Given the description of an element on the screen output the (x, y) to click on. 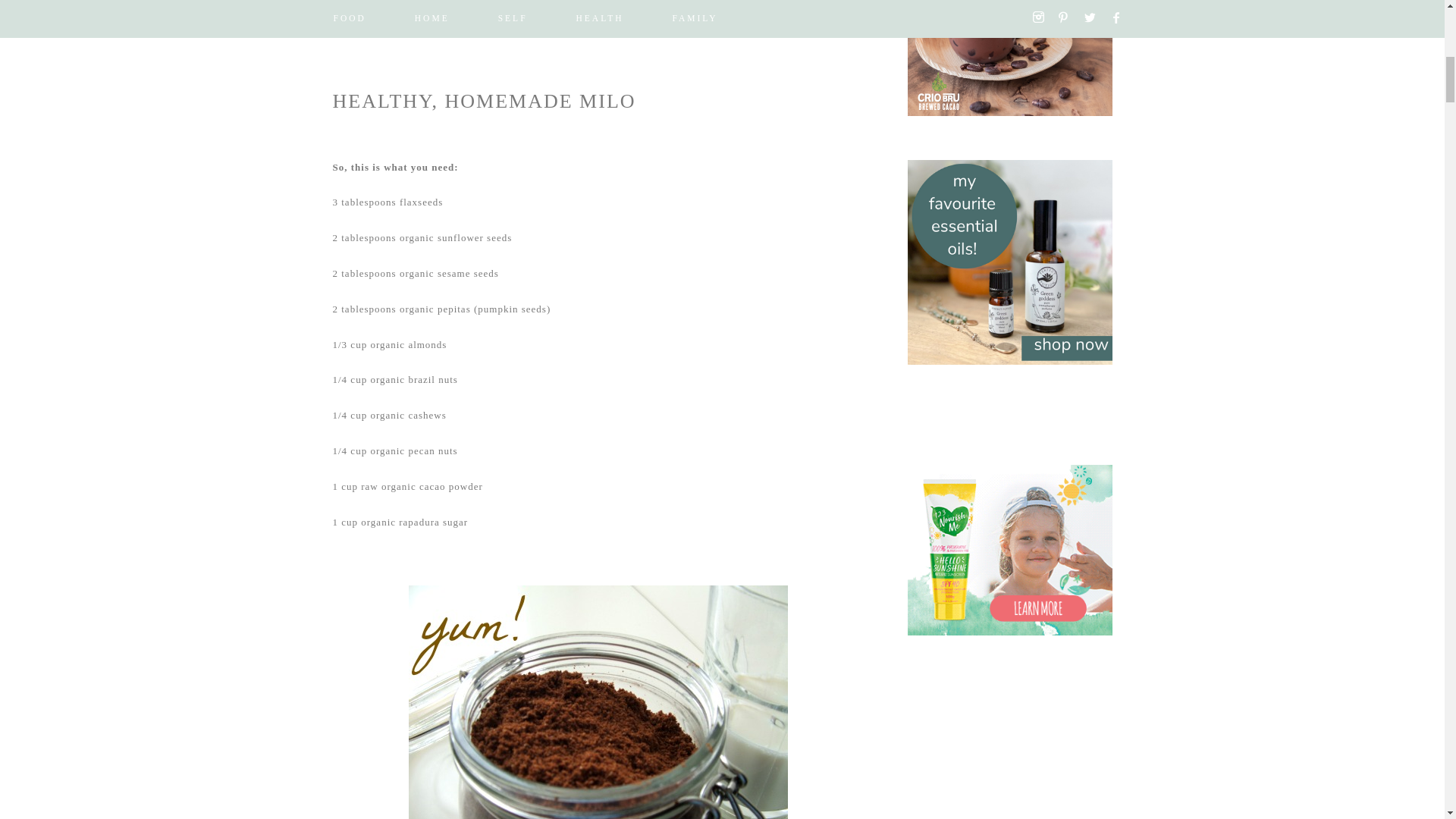
Thermomix forums (595, 9)
